Given the description of an element on the screen output the (x, y) to click on. 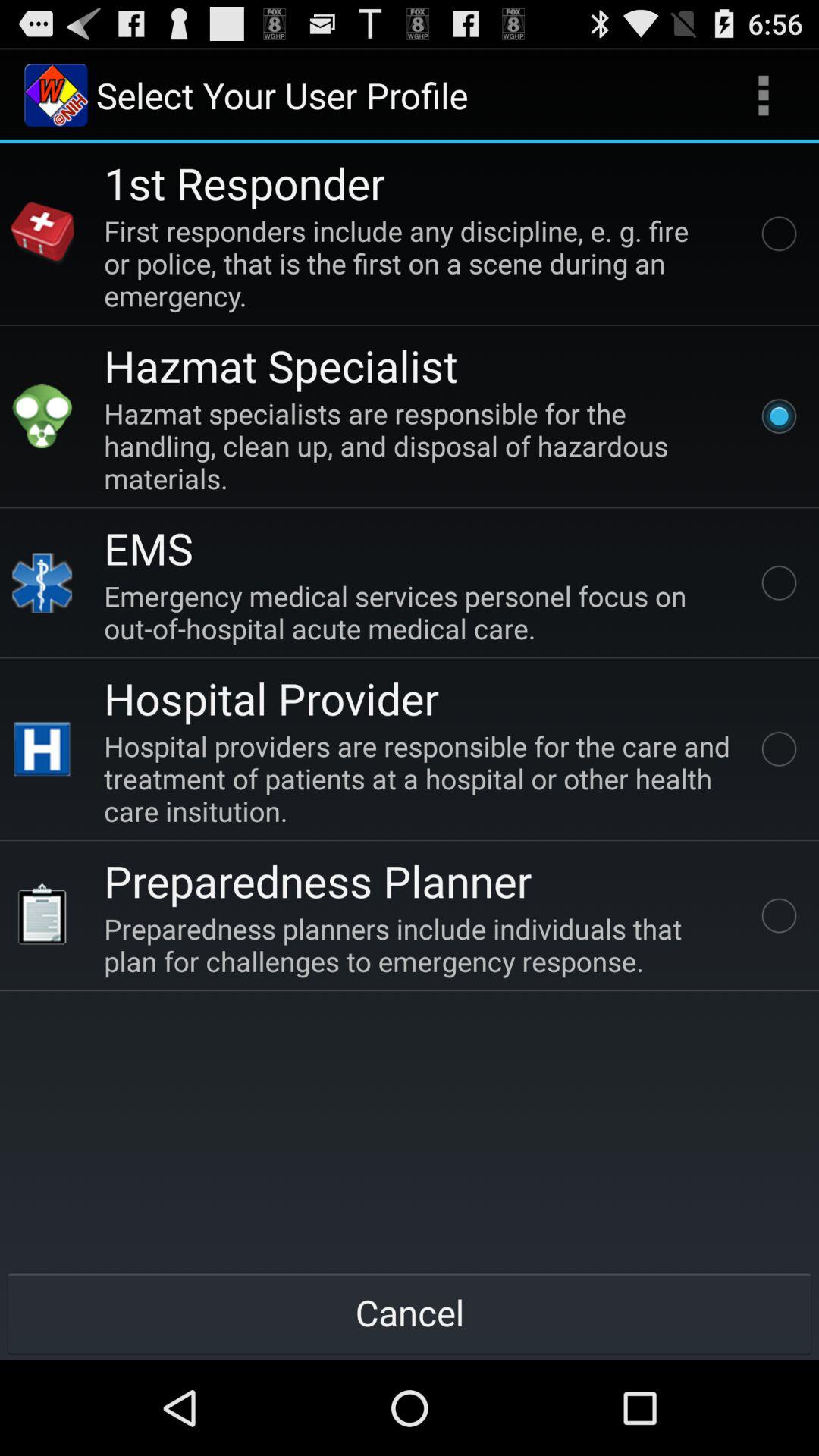
jump to the first responders include item (420, 263)
